Given the description of an element on the screen output the (x, y) to click on. 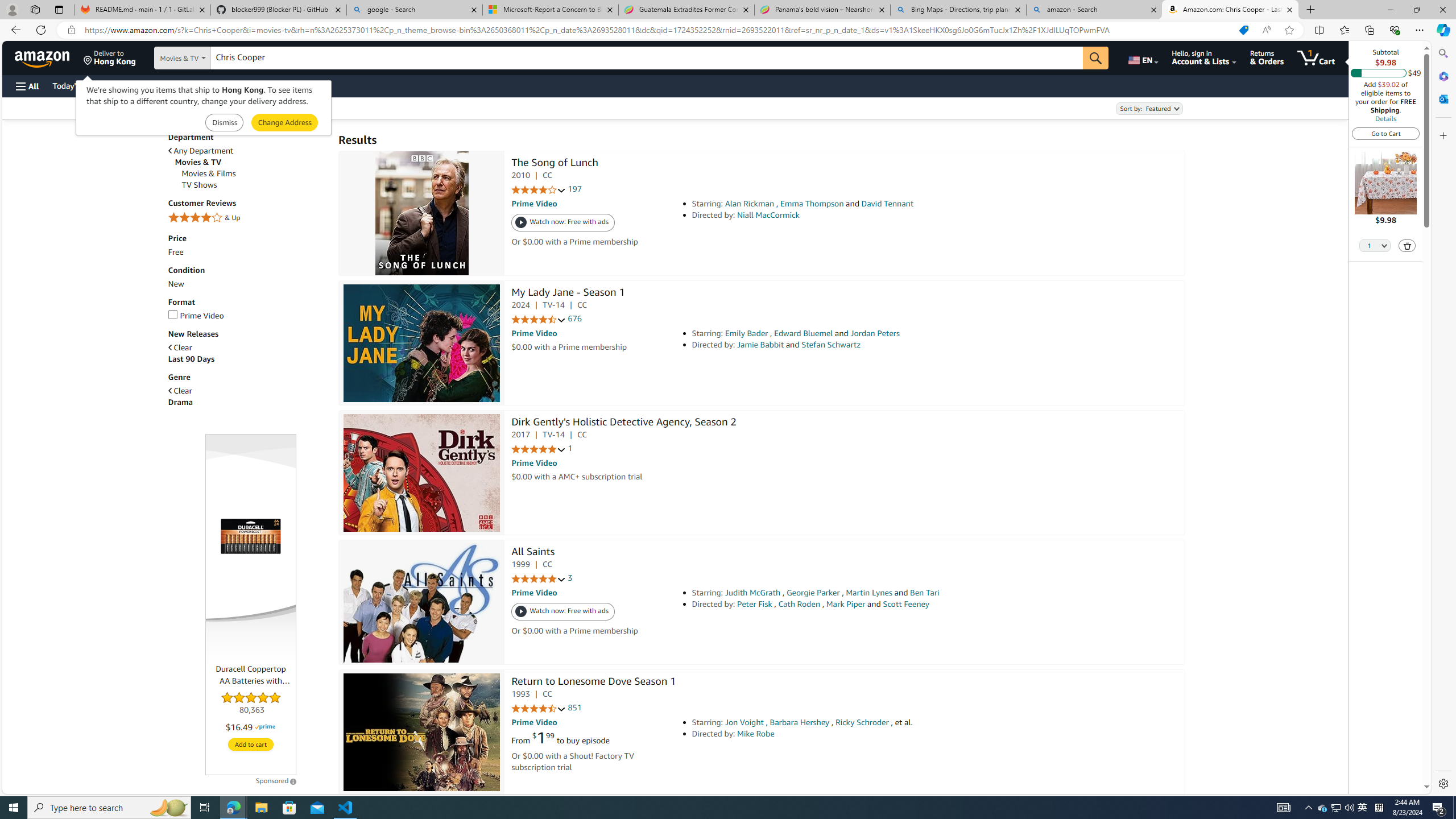
Return to Lonesome Dove Season 1 (421, 732)
Dirk Gently's Holistic Detective Agency, Season 2 (421, 472)
My Lady Jane - Season 1 (421, 343)
Sort by: (1148, 108)
Leave feedback on Sponsored ad (275, 780)
1 (569, 447)
Go back to filtering menu (48, 788)
Choose a language for shopping. (1142, 57)
Delete (1407, 245)
Deliver to Hong Kong (109, 57)
